Given the description of an element on the screen output the (x, y) to click on. 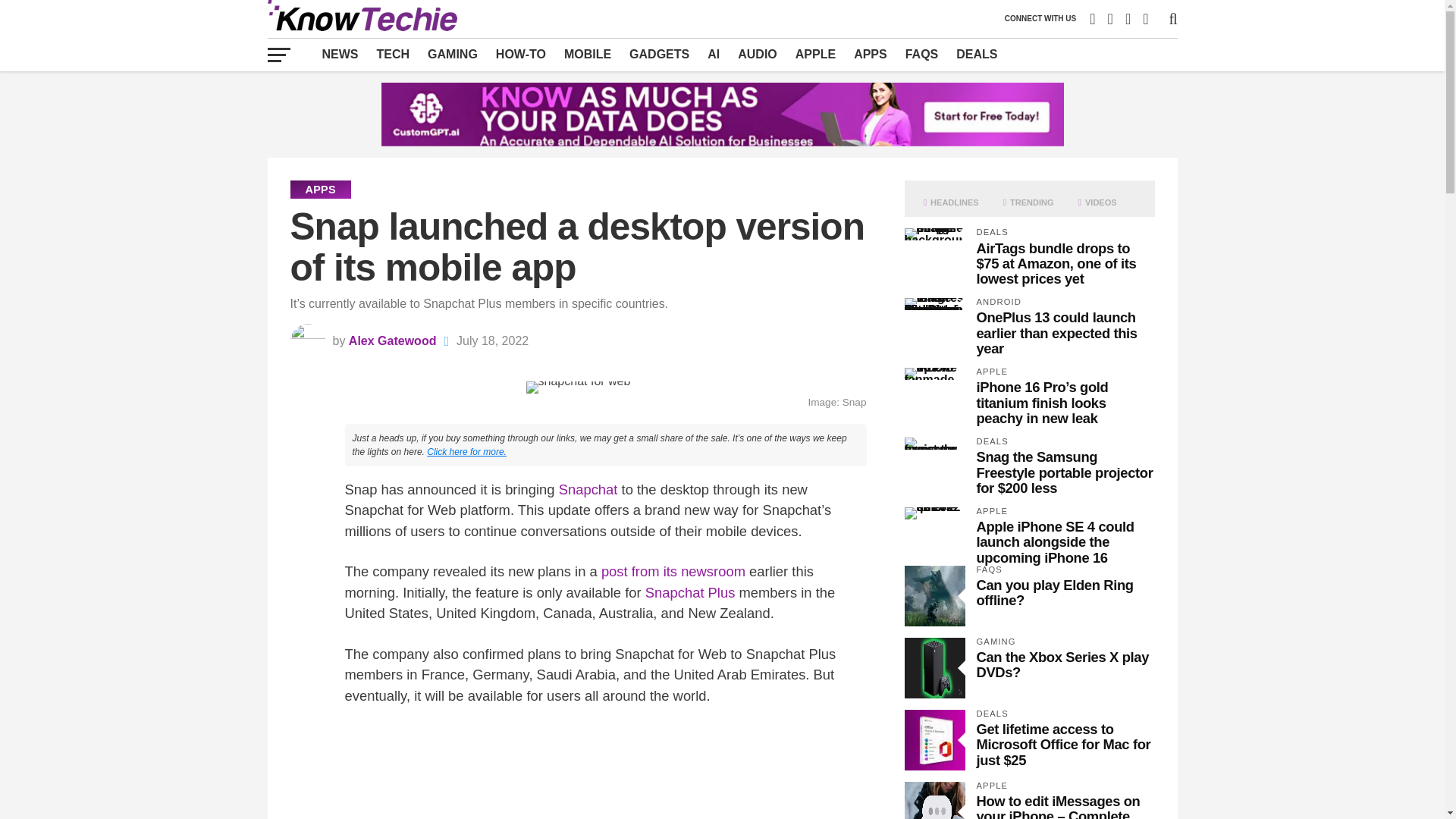
HOW-TO (520, 54)
APPS (870, 54)
Alex Gatewood (392, 340)
GAMING (452, 54)
Posts by Alex Gatewood (392, 340)
DEALS (976, 54)
AI (713, 54)
AUDIO (757, 54)
MOBILE (587, 54)
Click here for more. (466, 451)
